Given the description of an element on the screen output the (x, y) to click on. 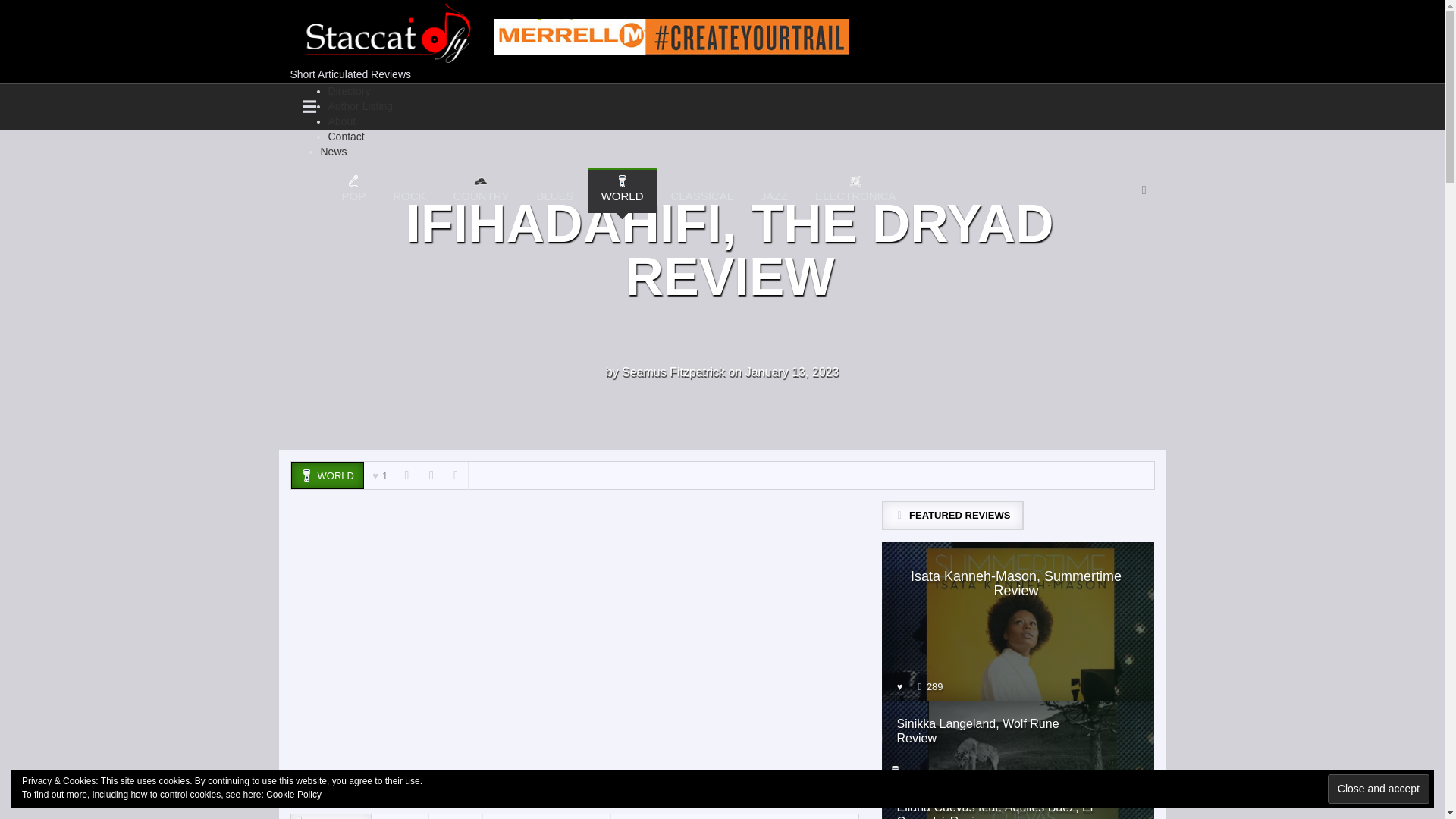
News (333, 151)
POP (352, 189)
Contact (345, 136)
Close and accept (1378, 788)
Author Listing (360, 105)
BLUES (554, 189)
ROCK (408, 189)
COUNTRY (480, 189)
Directory (348, 91)
About (623, 189)
